Given the description of an element on the screen output the (x, y) to click on. 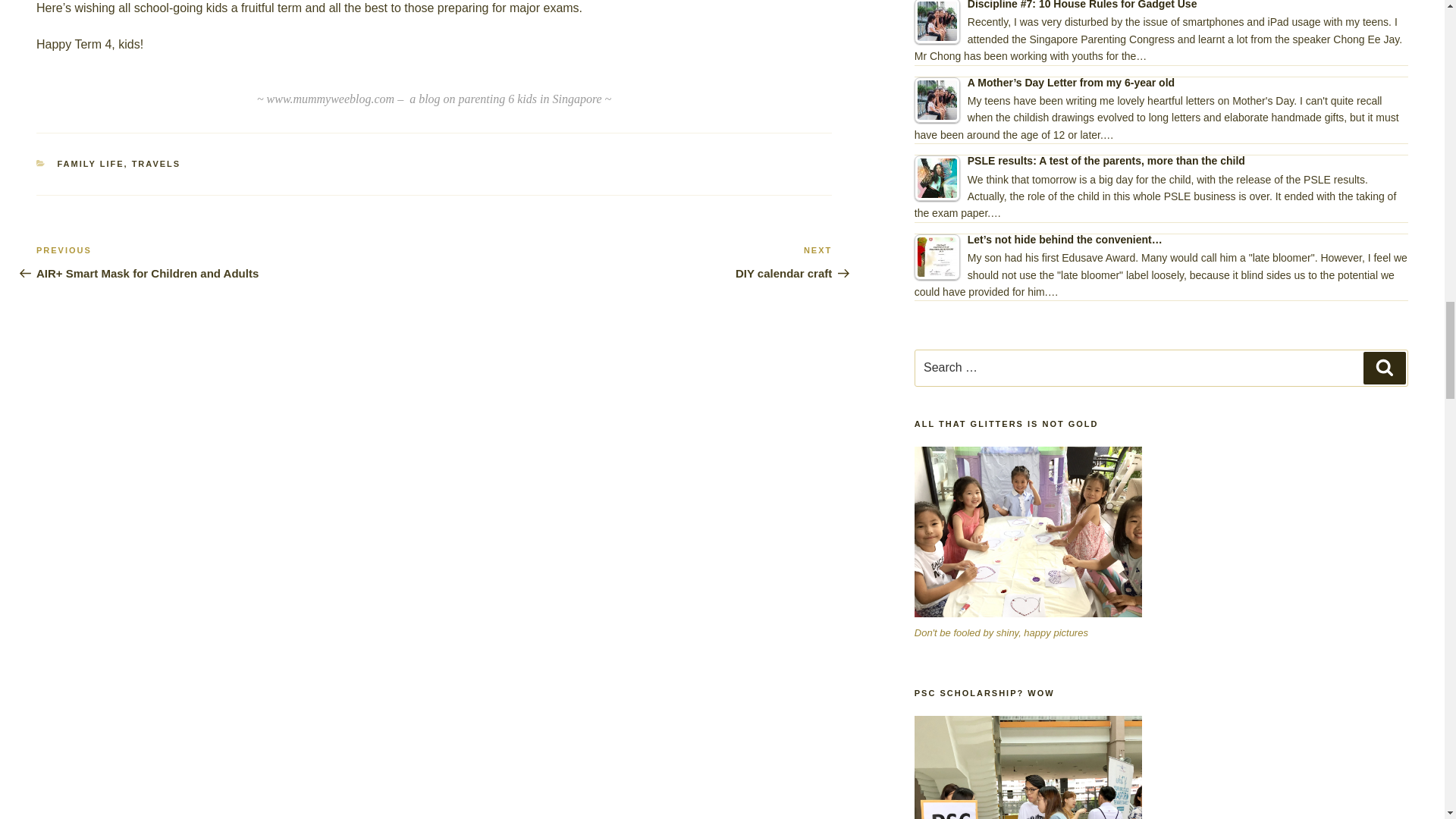
PSLE results: A test of the parents, more than the child (632, 262)
PSC Scholarship? Wow (936, 177)
ALL THAT GLITTERS IS NOT GOLD (1027, 767)
TRAVELS (1027, 531)
FAMILY LIFE (156, 163)
A Mother's Day Letter from my 6-year old (90, 163)
